Given the description of an element on the screen output the (x, y) to click on. 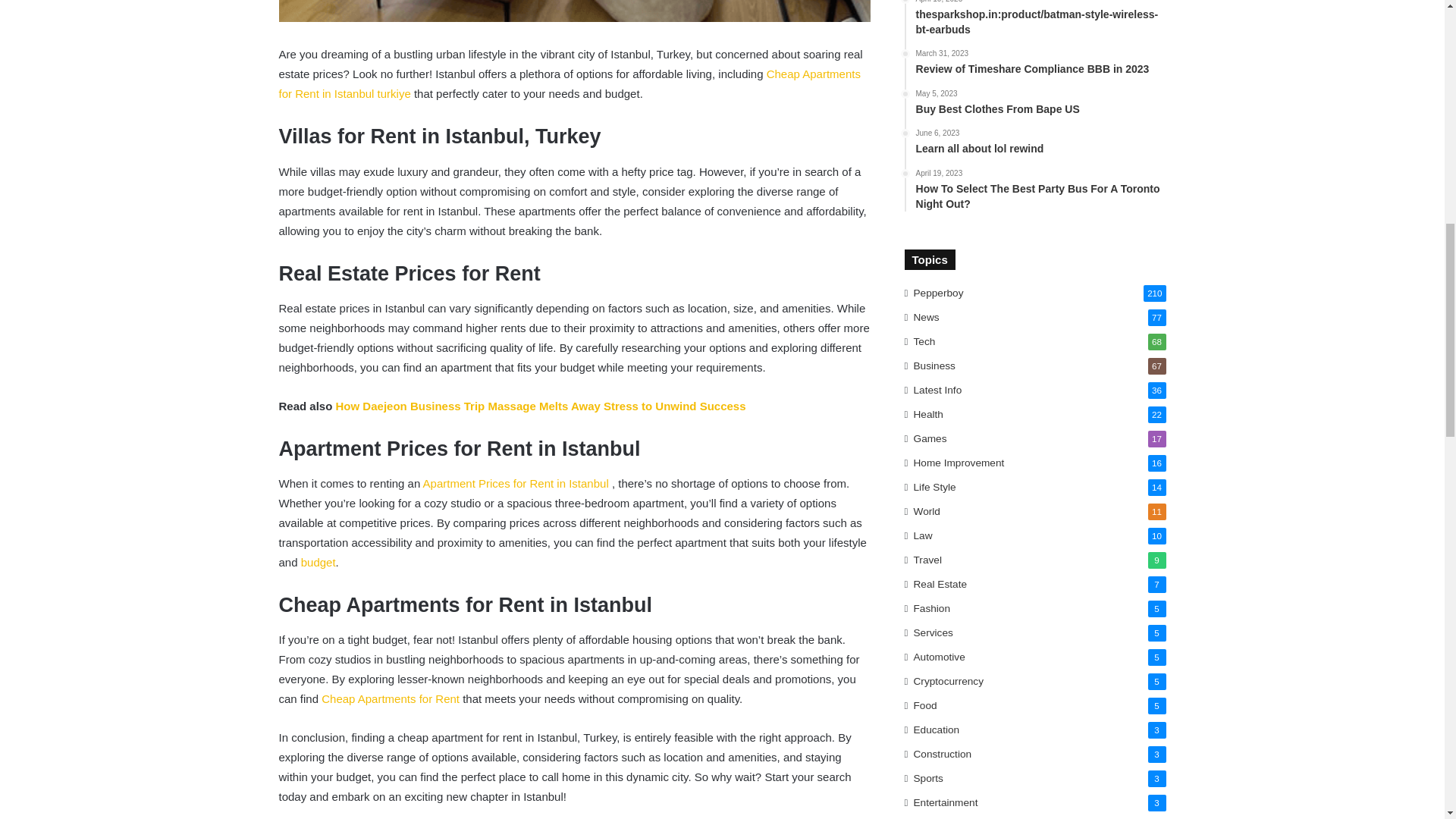
Apartment Prices for Rent in Istanbul (515, 482)
Cheap Apartments for Rent in Istanbul turkiye (569, 83)
